Given the description of an element on the screen output the (x, y) to click on. 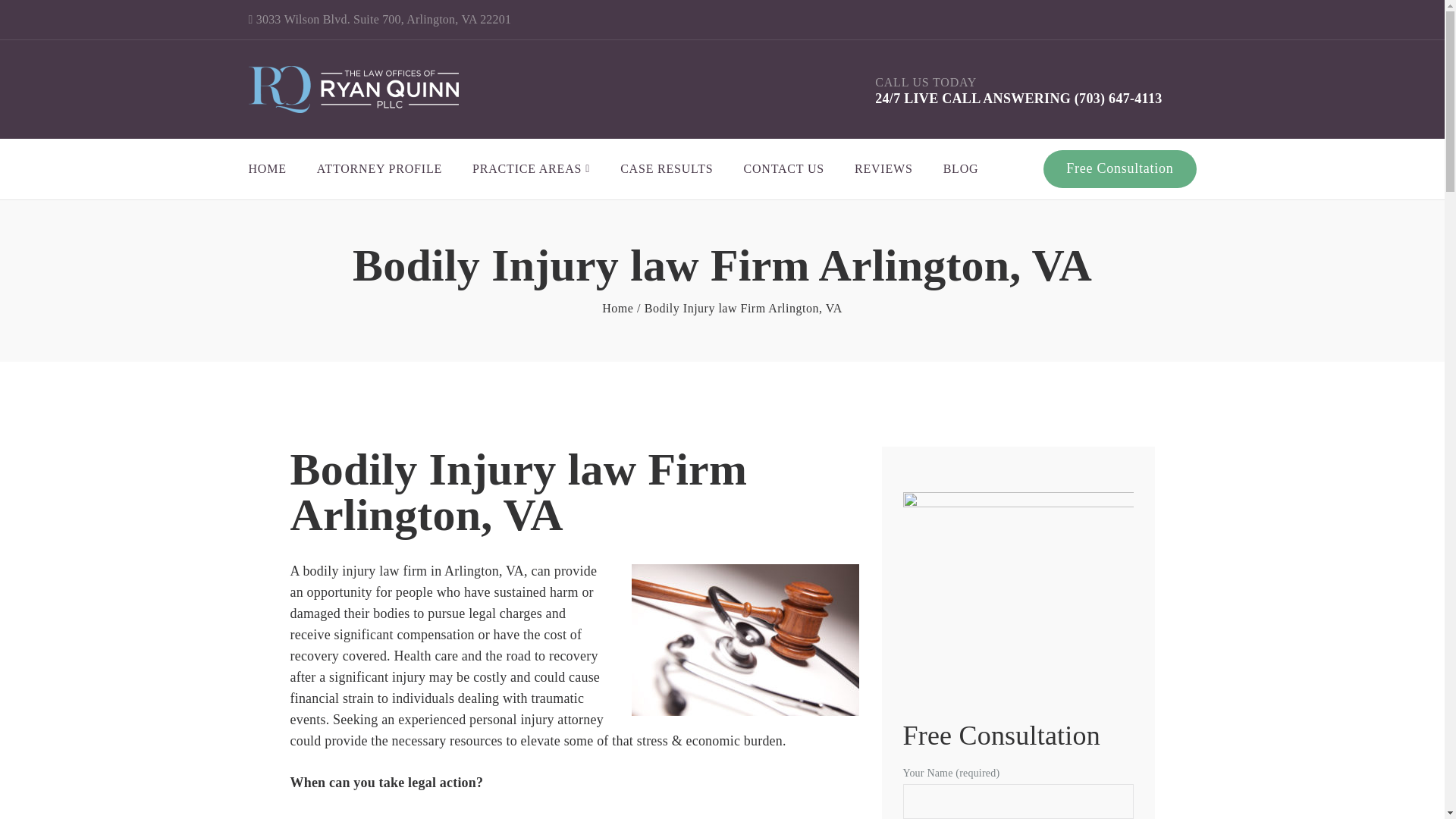
Home (617, 308)
REVIEWS (883, 169)
ATTORNEY PROFILE (379, 169)
CASE RESULTS (666, 169)
CONTACT US (783, 169)
Law Offices of Ryan Quinn, PLLC (617, 308)
Free Consultation (1119, 169)
PRACTICE AREAS (530, 169)
HOME (267, 169)
